Given the description of an element on the screen output the (x, y) to click on. 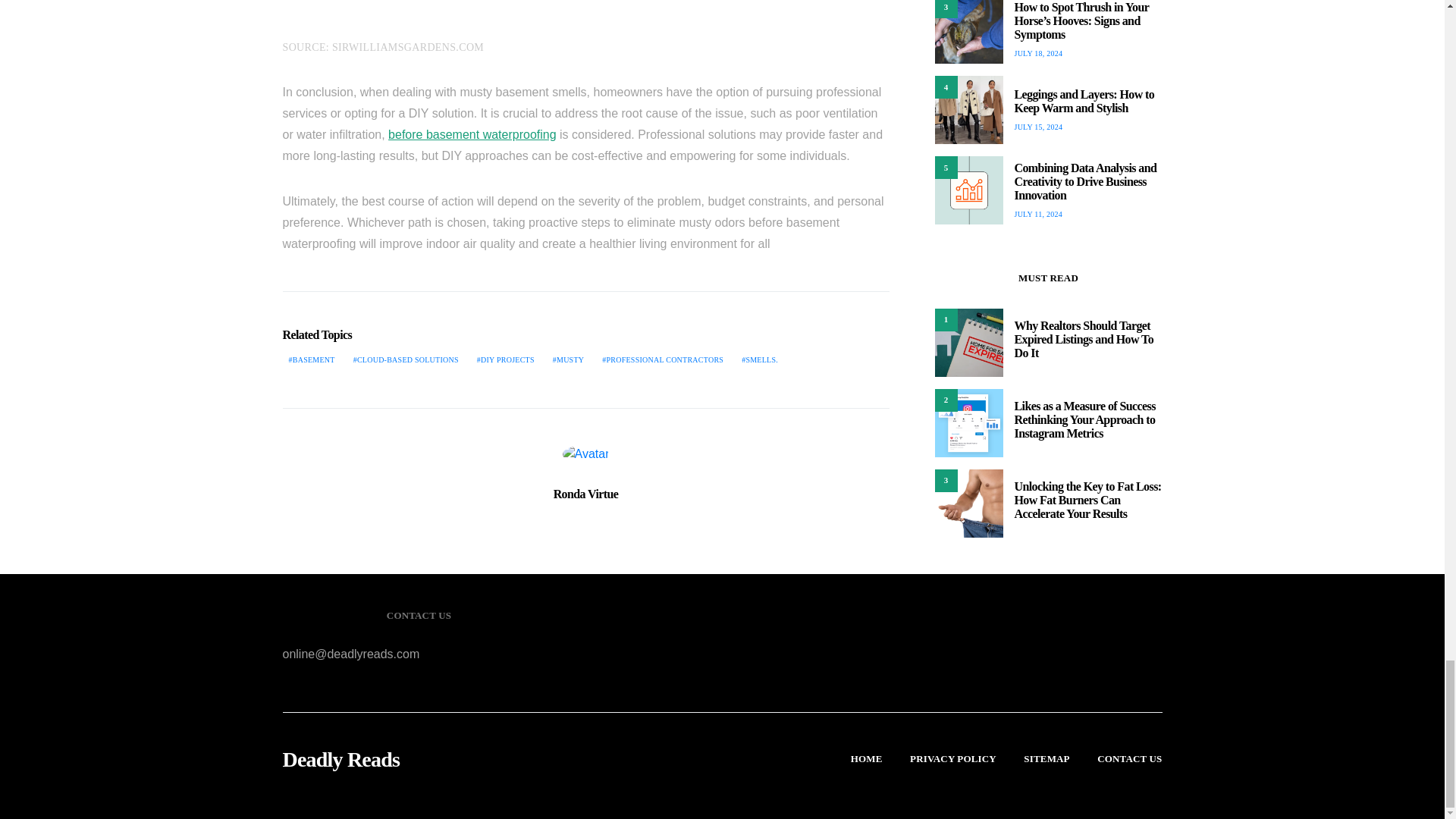
BASEMENT (311, 359)
Ronda Virtue (585, 493)
before basement waterproofing (472, 133)
PROFESSIONAL CONTRACTORS (662, 359)
CLOUD-BASED SOLUTIONS (405, 359)
MUSTY (569, 359)
DIY PROJECTS (505, 359)
SMELLS. (759, 359)
